Given the description of an element on the screen output the (x, y) to click on. 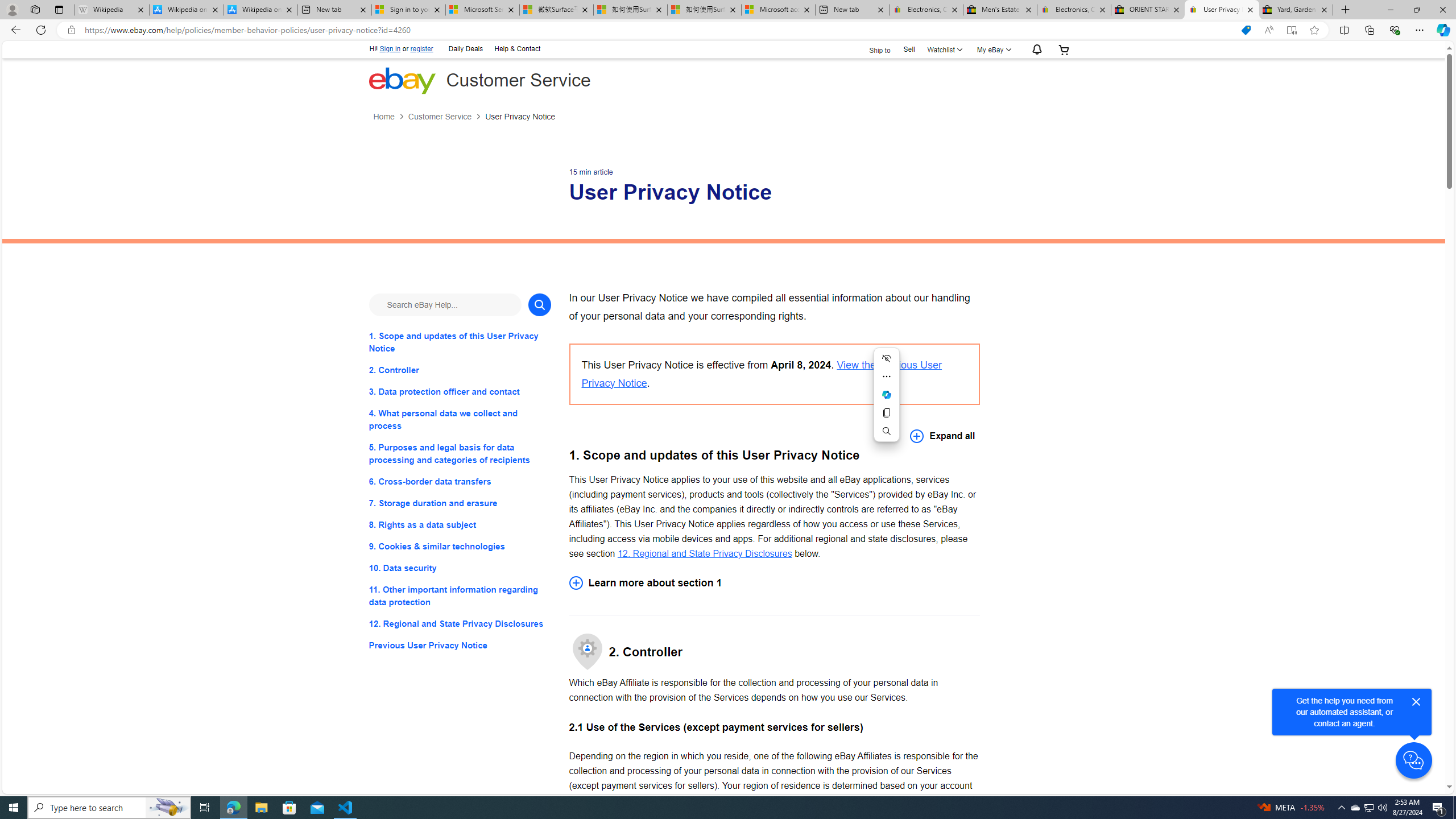
User Privacy Notice (520, 117)
Ask Copilot (886, 394)
View the previous User Privacy Notice (761, 373)
4. What personal data we collect and process (459, 419)
Your shopping cart (1064, 49)
Learn more about section 1 (774, 582)
10. Data security (459, 567)
